Given the description of an element on the screen output the (x, y) to click on. 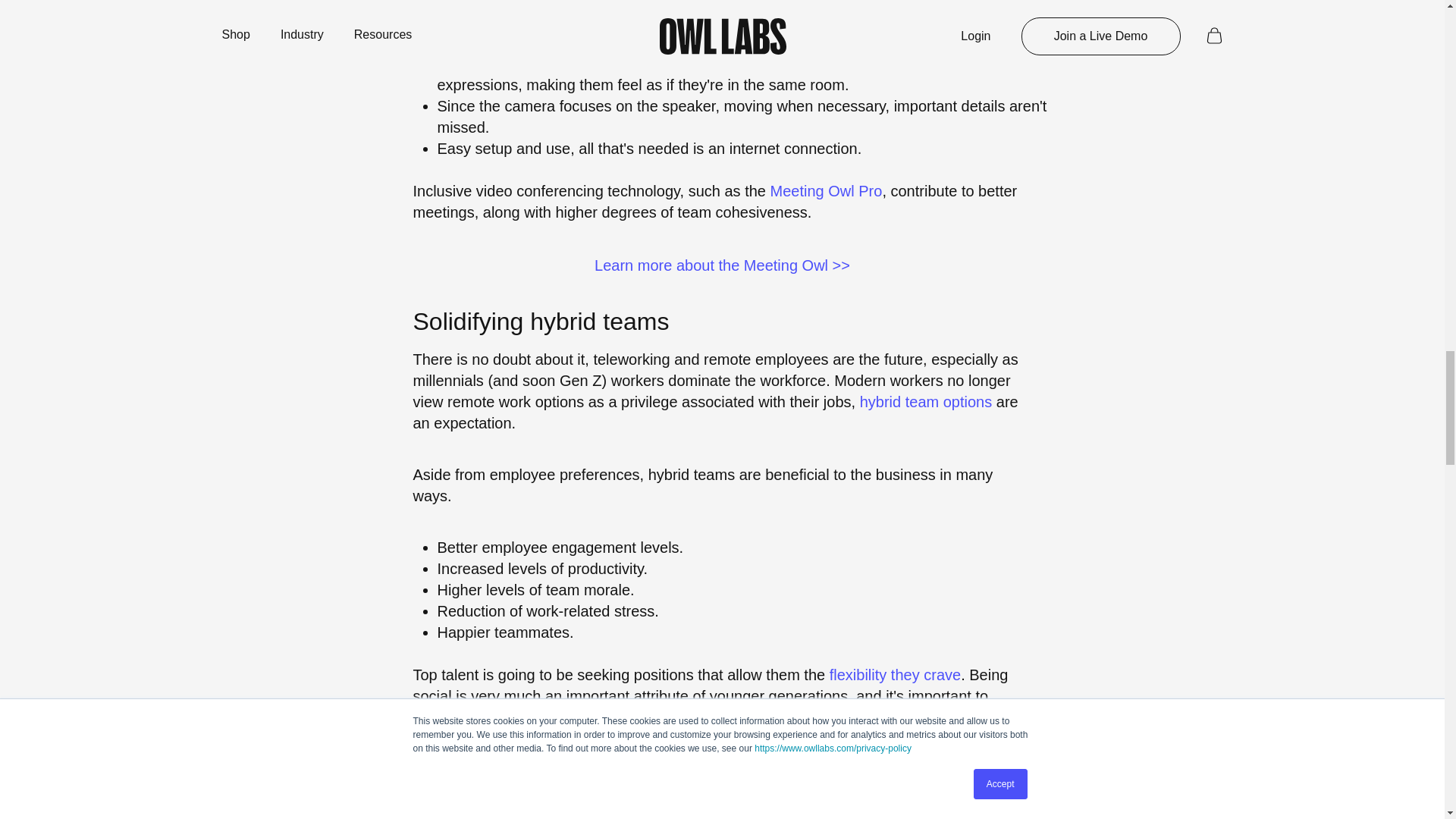
hybrid team options (926, 401)
Meeting Owl Pro (826, 190)
flexibility they crave (894, 674)
collaborative tools (714, 790)
